Given the description of an element on the screen output the (x, y) to click on. 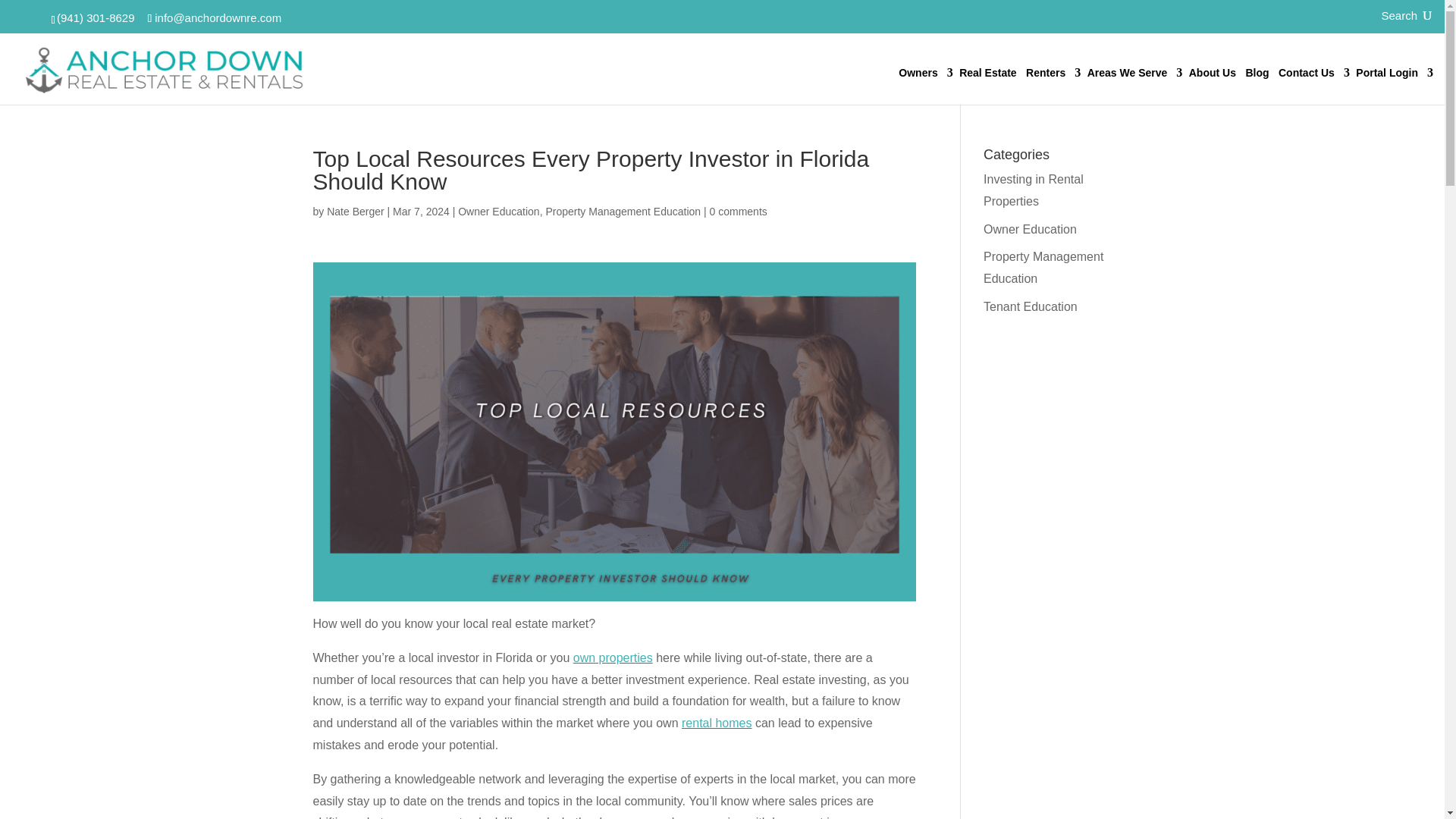
Real Estate (987, 81)
Owners (923, 81)
Areas We Serve (1133, 81)
Posts by Nate Berger (355, 211)
Contact Us (1312, 81)
About Us (1212, 81)
Portal Login (1392, 81)
Renters (1051, 81)
